Given the description of an element on the screen output the (x, y) to click on. 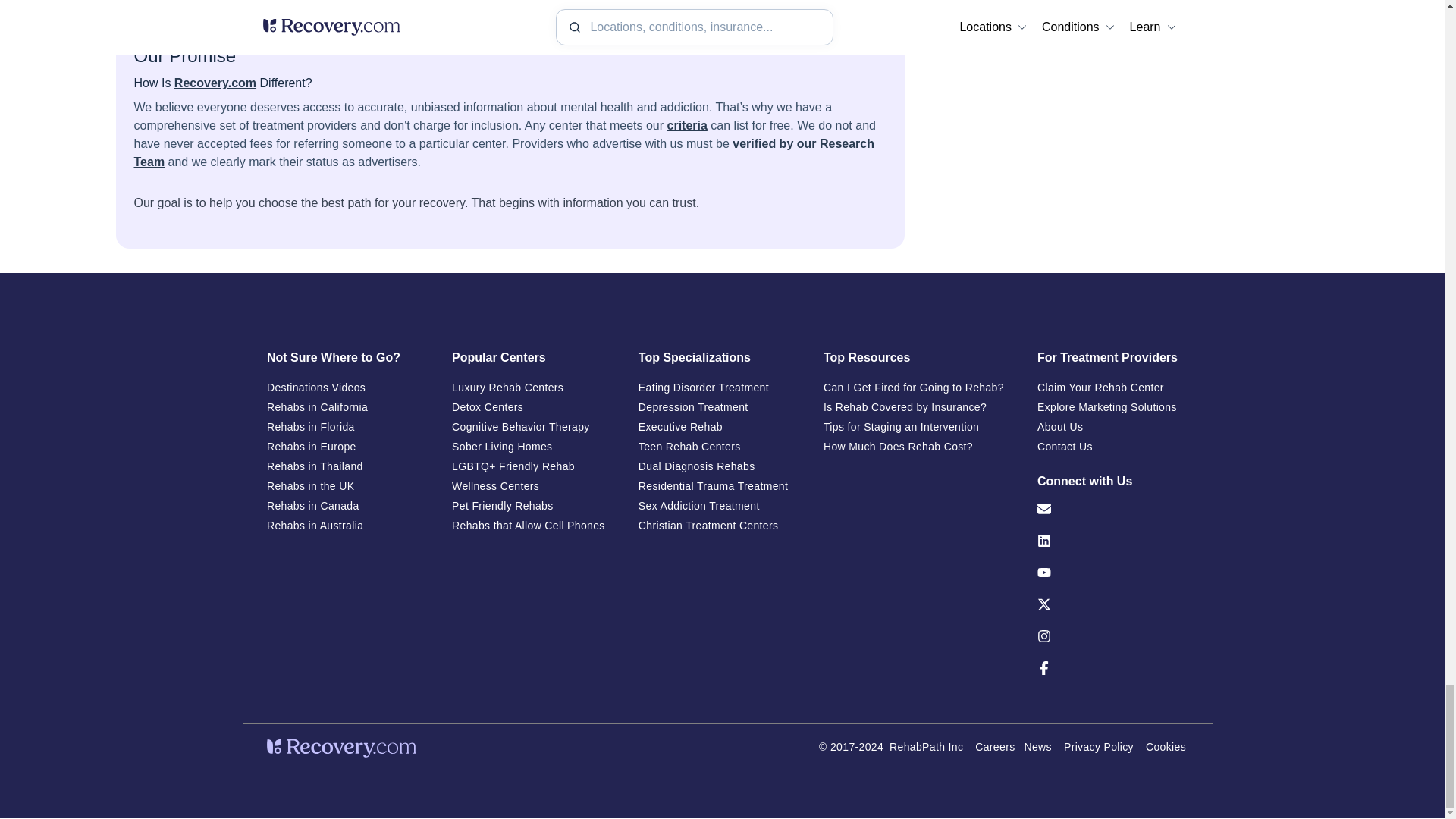
LinkedIn (1112, 555)
Facebook (1112, 682)
RehabPath Inc (925, 746)
X formerly Twitter (1112, 619)
Instagram (1112, 651)
YouTube (1112, 587)
Contact Us (1112, 516)
